Given the description of an element on the screen output the (x, y) to click on. 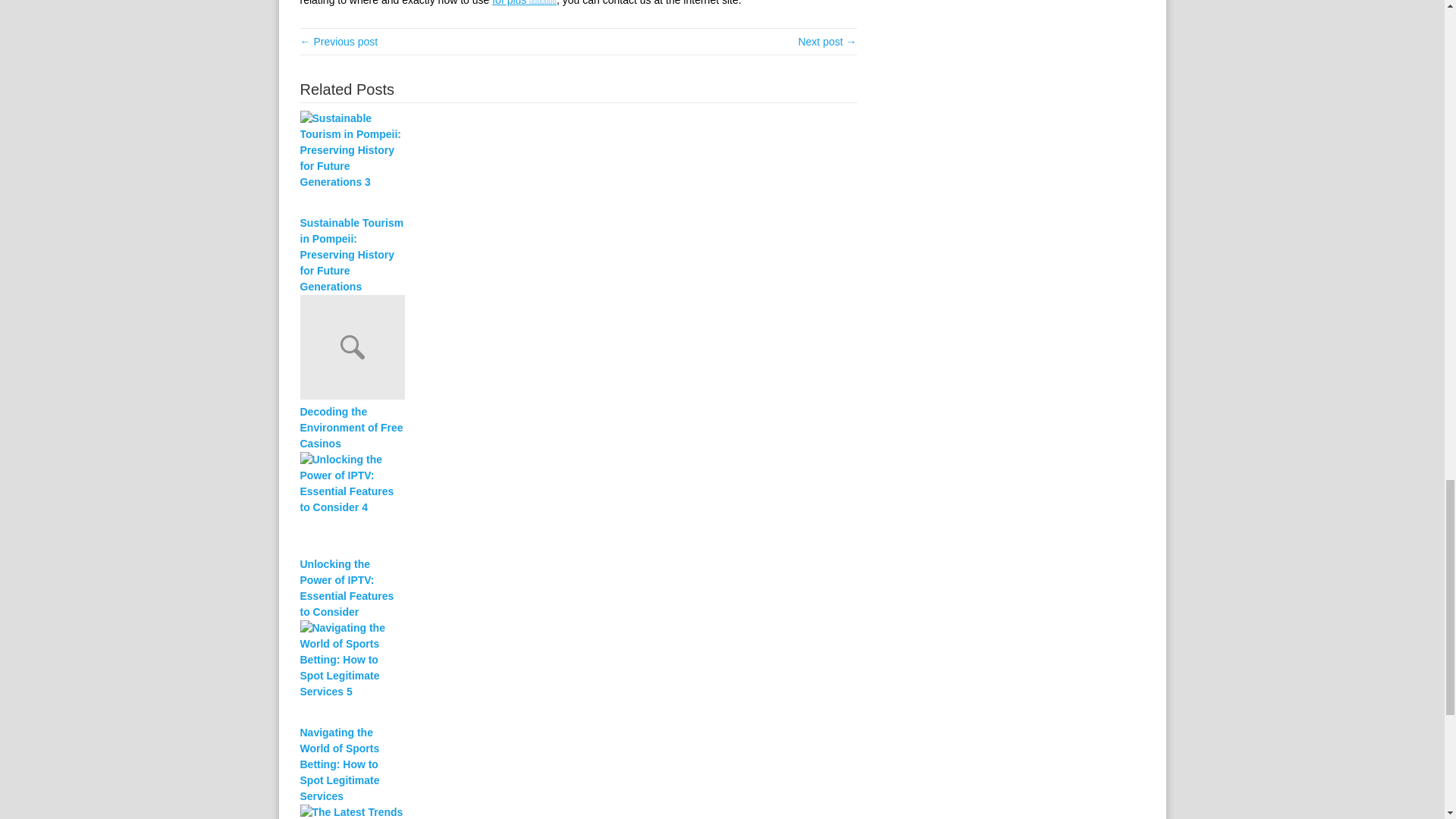
Unlocking the Power of IPTV: Essential Features to Consider (351, 587)
How to Play Slots at an Online Casino (826, 41)
Decoding the Environment of Free Casinos (351, 428)
E-Cigarettes can contain Nicotine, Flavoring, or Humectants (338, 41)
Decoding the Environment of Free Casinos (351, 428)
Decoding the Environment of Free Casinos (578, 349)
Unlocking the Power of IPTV: Essential Features to Consider (351, 587)
